Given the description of an element on the screen output the (x, y) to click on. 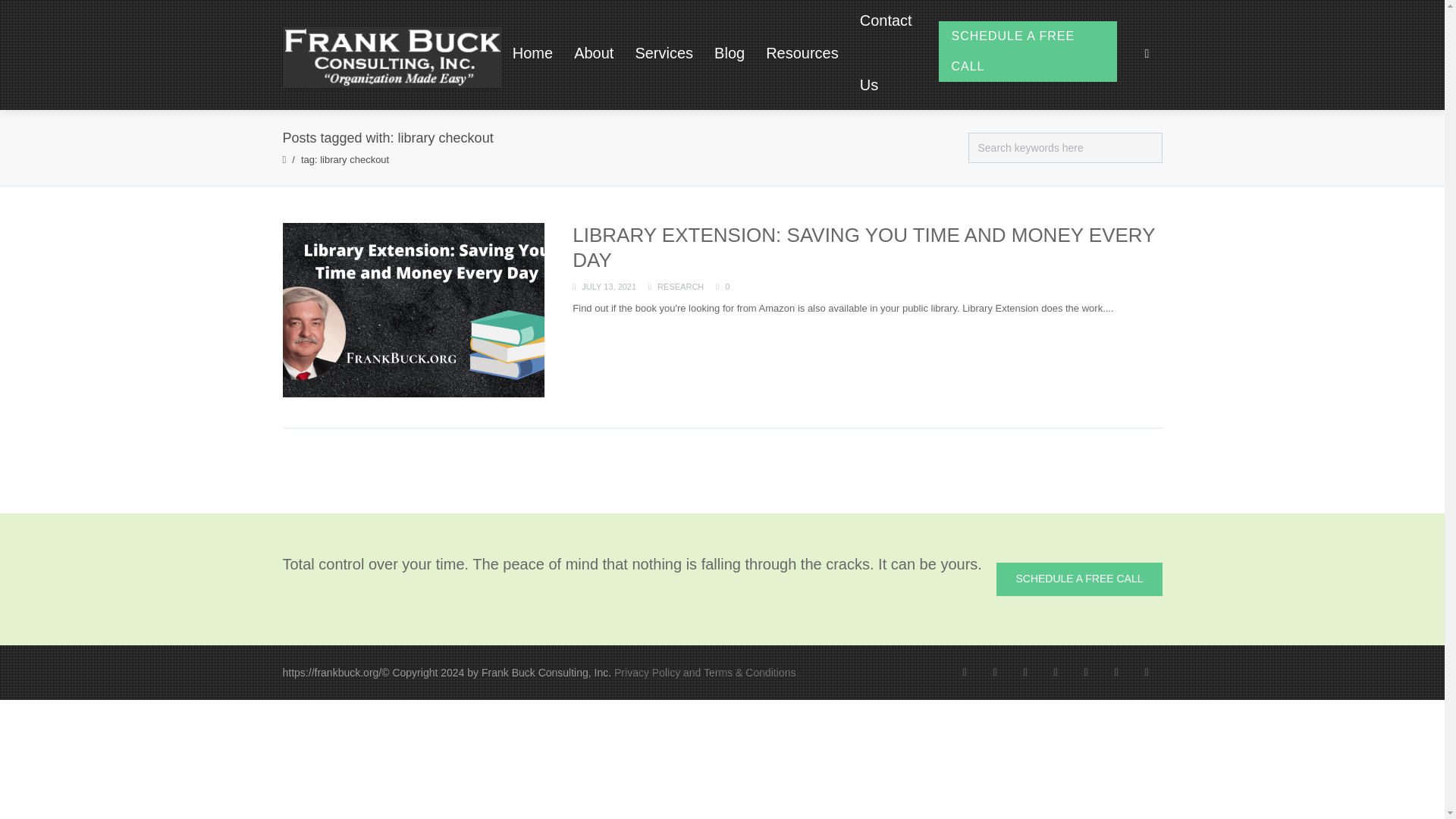
Search keywords here (1064, 147)
Home (532, 53)
0 (722, 286)
SCHEDULE A FREE CALL (1078, 579)
Resources (801, 53)
Frank Buck Consulting (391, 56)
LIBRARY EXTENSION: SAVING YOU TIME AND MONEY EVERY DAY (863, 247)
Services (663, 53)
About (593, 53)
RESEARCH (680, 286)
View all posts in Research (680, 286)
SCHEDULE A FREE CALL (1027, 51)
